Given the description of an element on the screen output the (x, y) to click on. 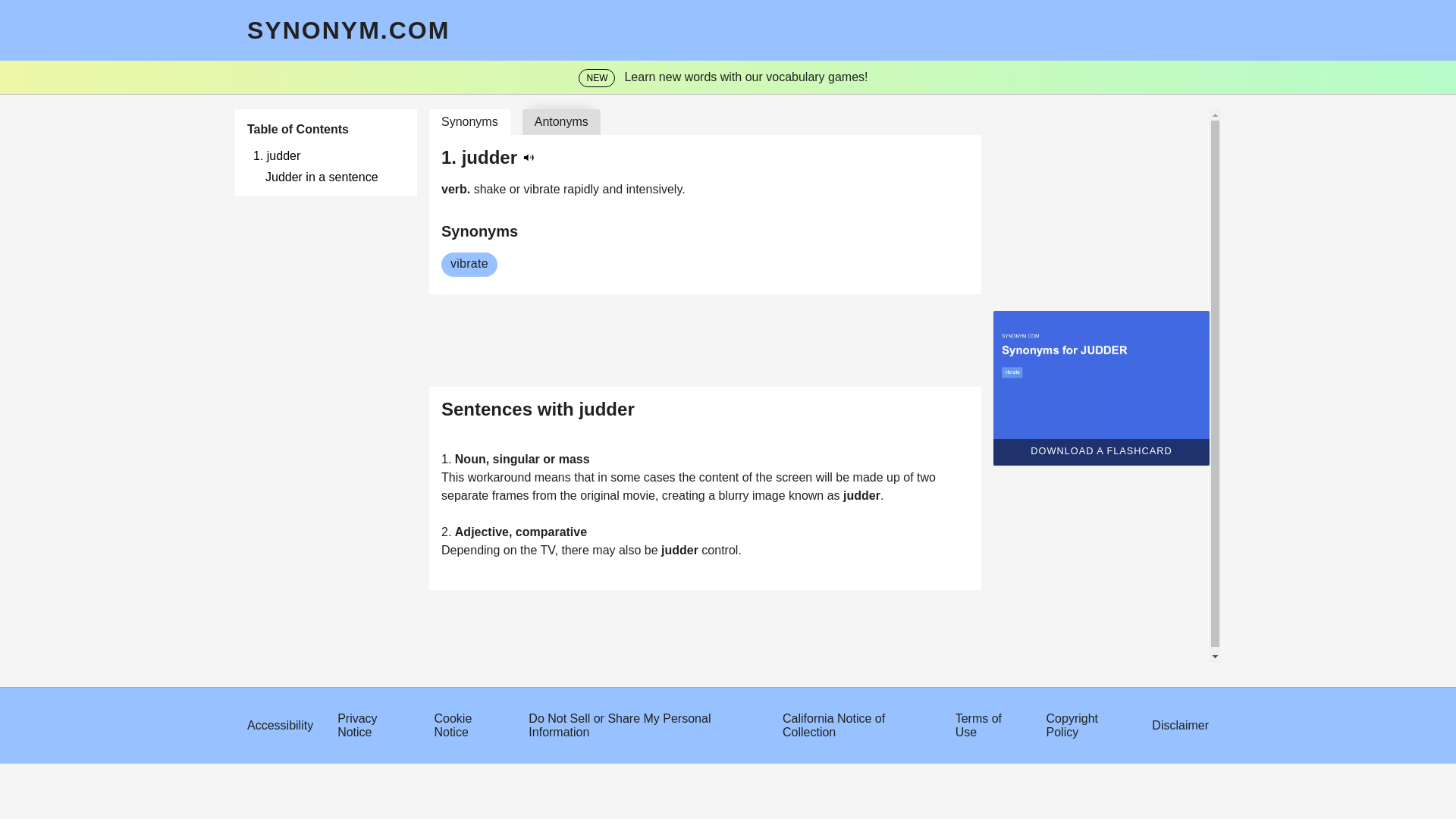
known (808, 495)
screen (795, 477)
frames (512, 495)
vibrate (468, 264)
1. judder (328, 155)
separate (466, 495)
two (926, 477)
shake (491, 188)
means (553, 477)
intensively. (655, 188)
